Given the description of an element on the screen output the (x, y) to click on. 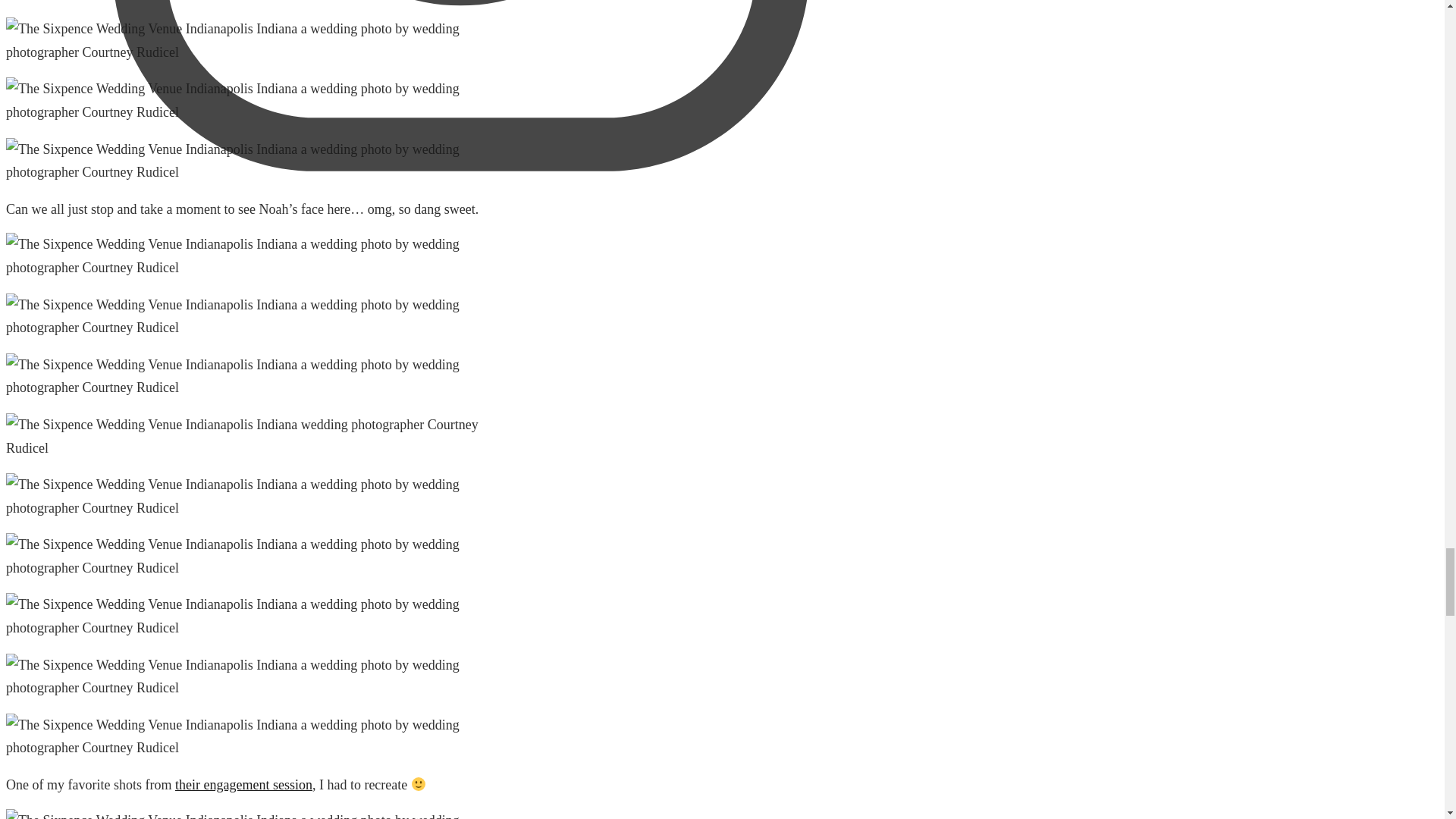
their engagement session (243, 784)
